Given the description of an element on the screen output the (x, y) to click on. 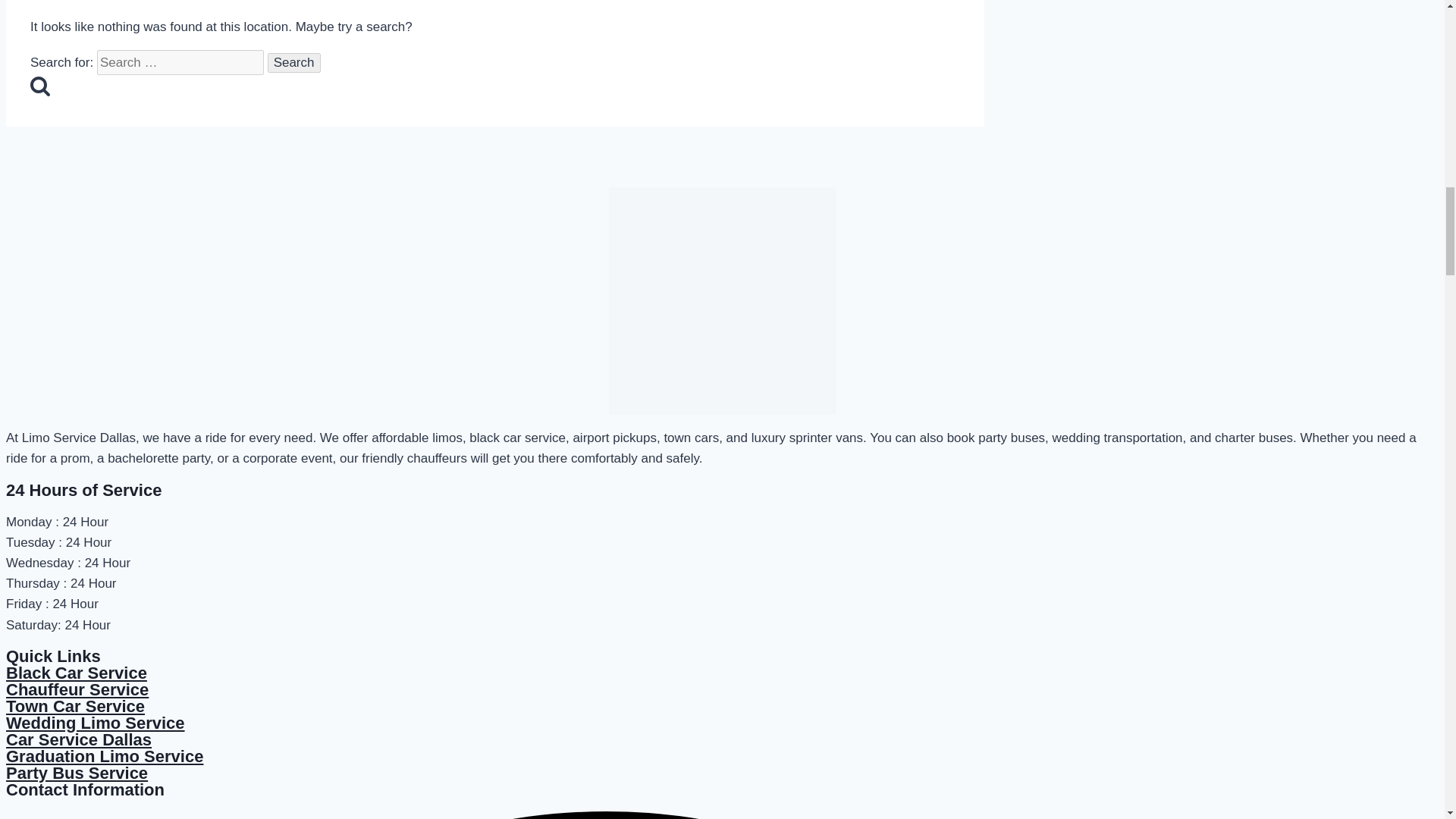
Search (293, 62)
Wedding Limo Service (94, 722)
cropped-limo-service-dallas.webp (721, 300)
Town Car Service (74, 705)
Car Service Dallas (78, 739)
Search (293, 62)
Chauffeur Service (76, 689)
Search (39, 85)
Search (293, 62)
Black Car Service (76, 672)
